Given the description of an element on the screen output the (x, y) to click on. 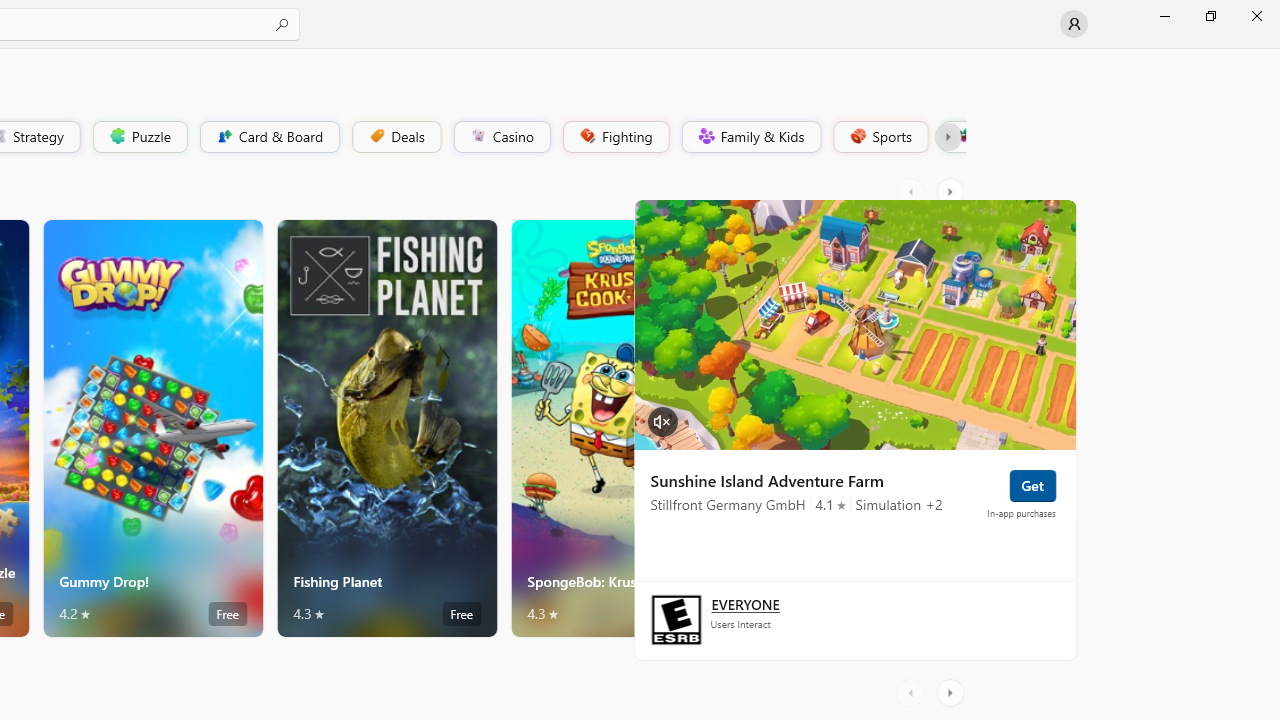
Minimize Microsoft Store (1164, 15)
AutomationID: LeftScrollButton (913, 692)
Gummy Drop!. Average rating of 4.2 out of five stars. Free   (152, 427)
Restore Microsoft Store (1210, 15)
Class: Button (947, 136)
Get (1032, 484)
Fighting (614, 136)
Card & Board (268, 136)
